Given the description of an element on the screen output the (x, y) to click on. 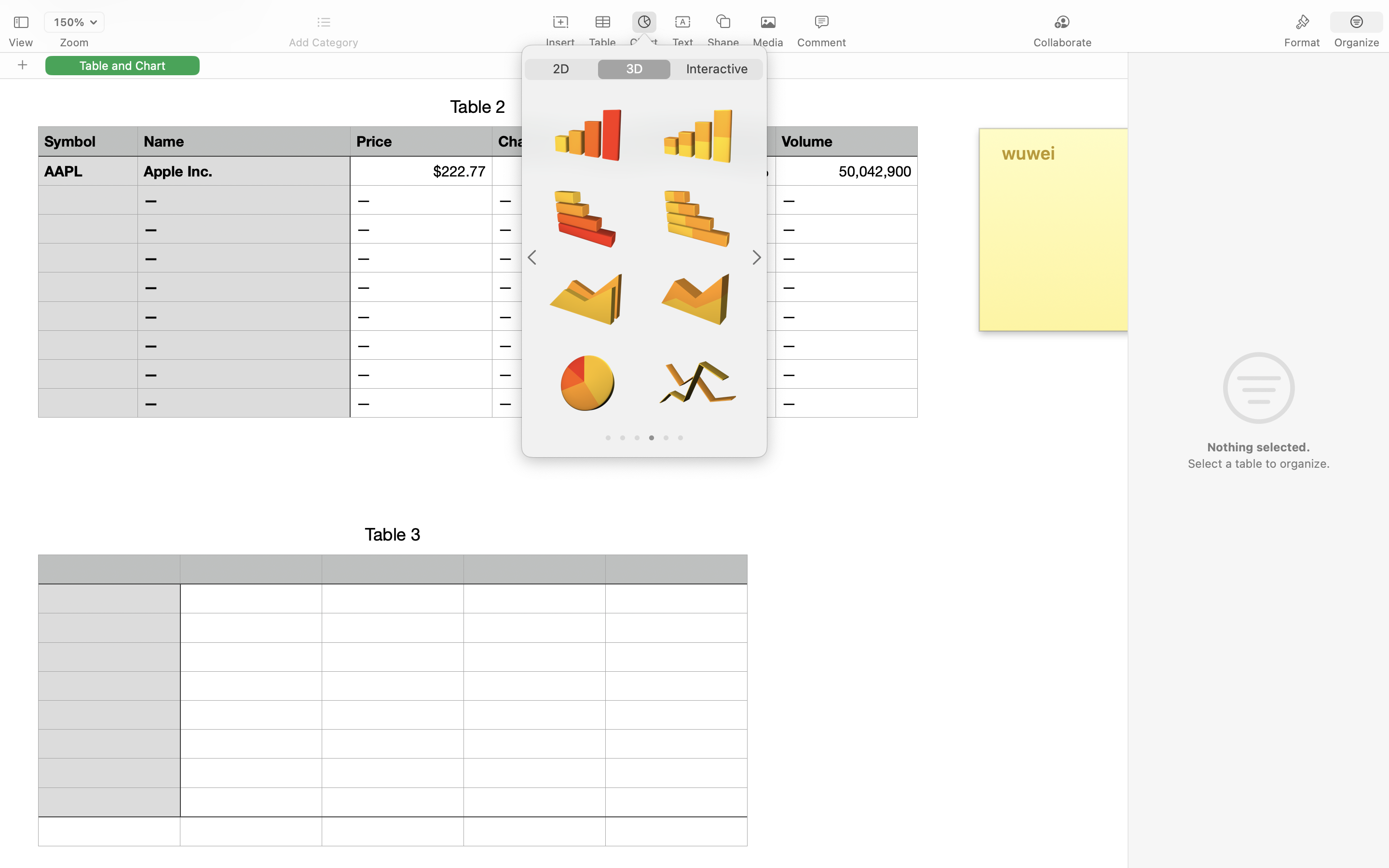
Select a table to organize. Element type: AXStaticText (1258, 463)
Media Element type: AXStaticText (767, 42)
